Given the description of an element on the screen output the (x, y) to click on. 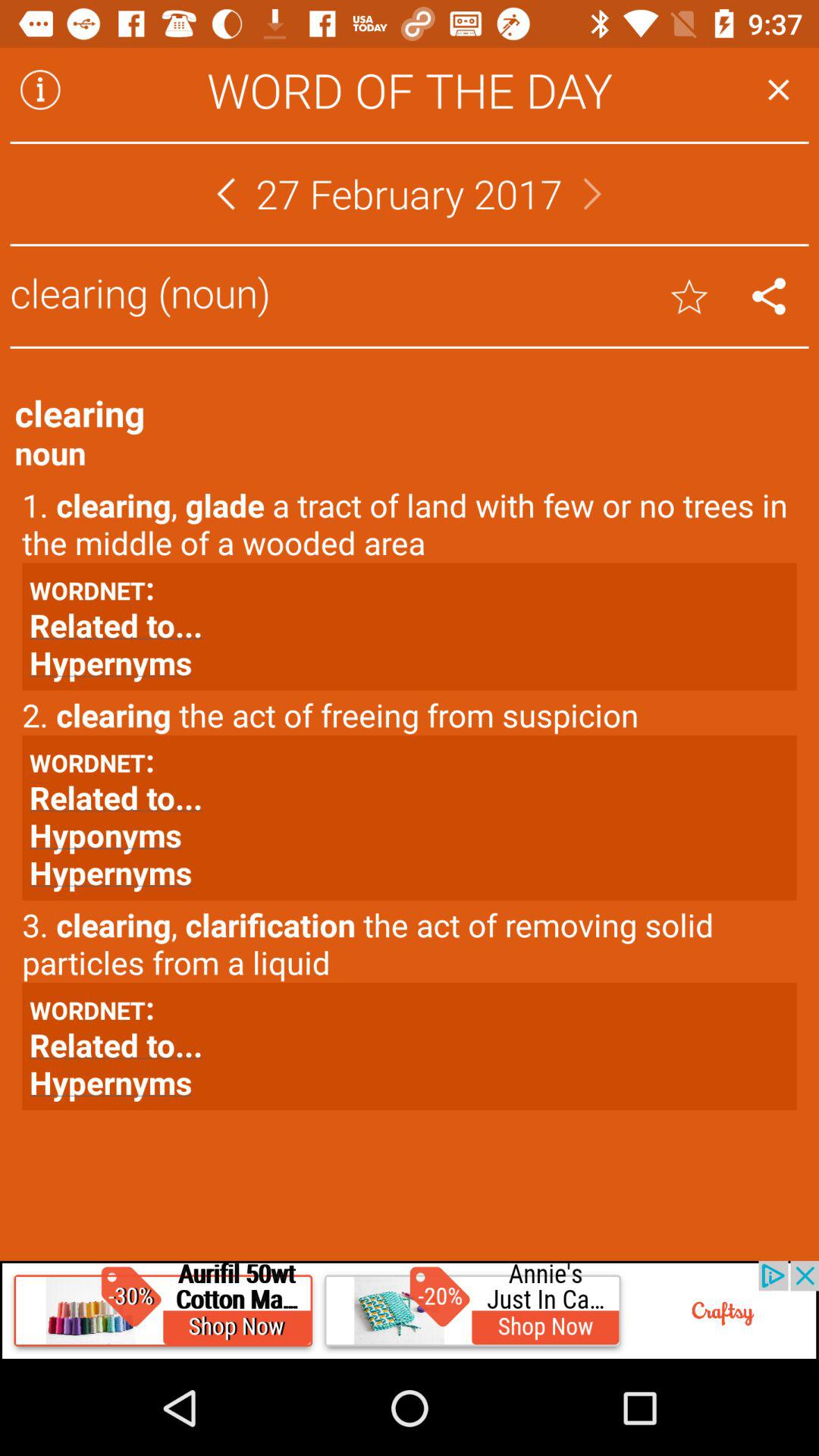
toggle network (768, 296)
